Given the description of an element on the screen output the (x, y) to click on. 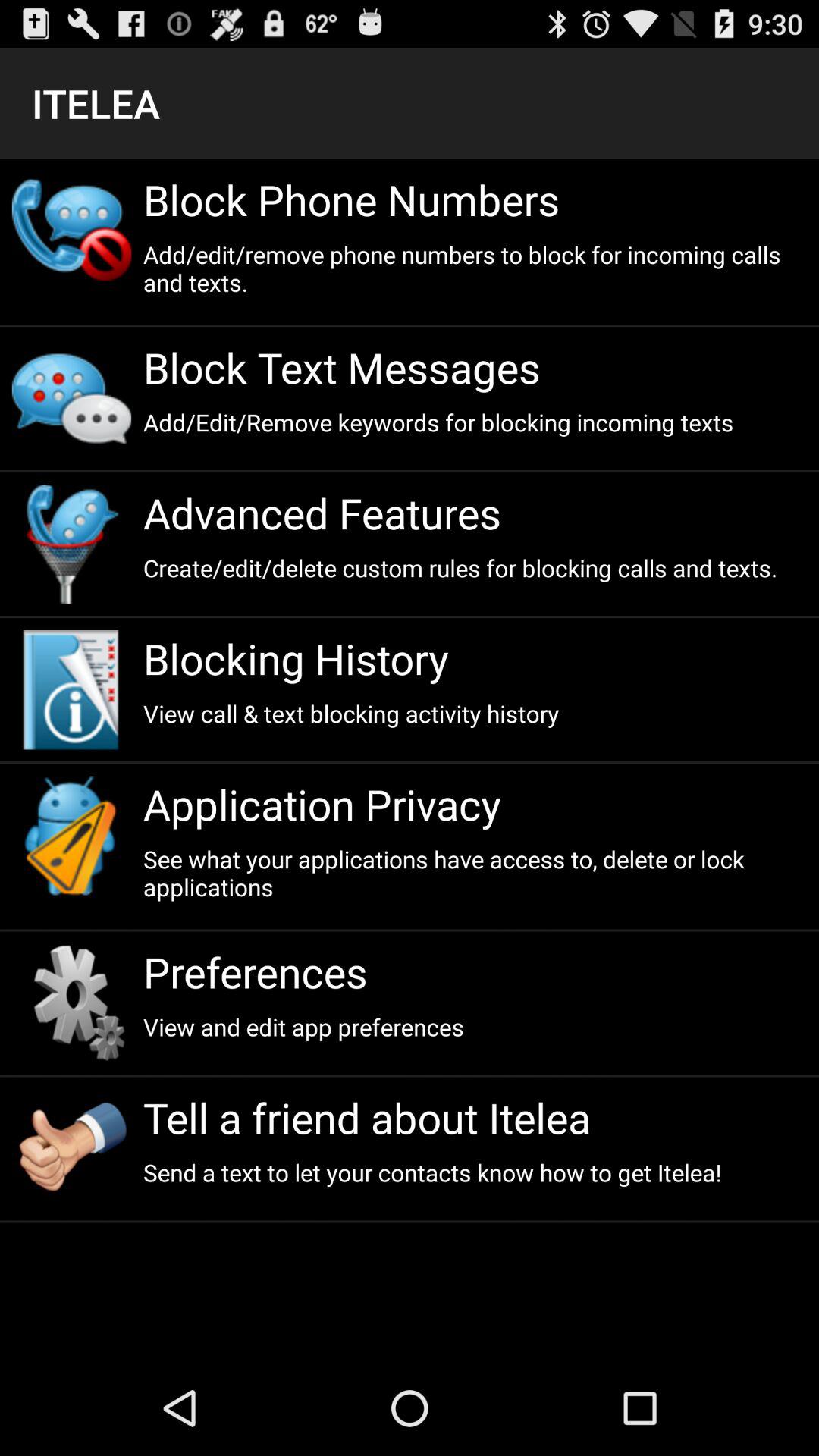
choose the tell a friend (475, 1117)
